Given the description of an element on the screen output the (x, y) to click on. 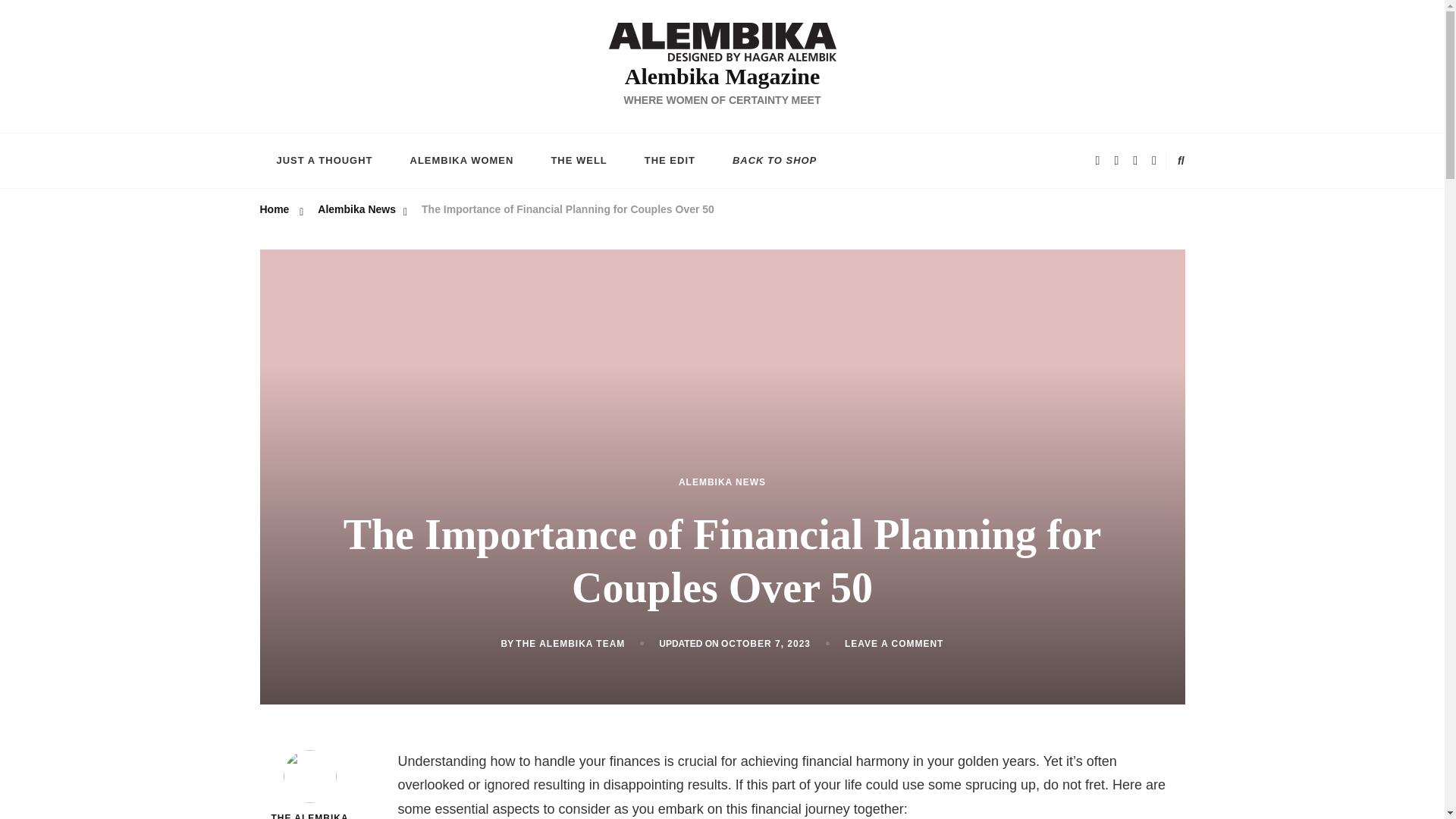
ALEMBIKA NEWS (721, 482)
THE ALEMBIKA TEAM (569, 644)
JUST A THOUGHT (323, 160)
The Importance of Financial Planning for Couples Over 50 (568, 210)
THE WELL (578, 160)
THE ALEMBIKA TEAM (309, 784)
BACK TO SHOP (774, 160)
Home (273, 210)
THE EDIT (669, 160)
